Given the description of an element on the screen output the (x, y) to click on. 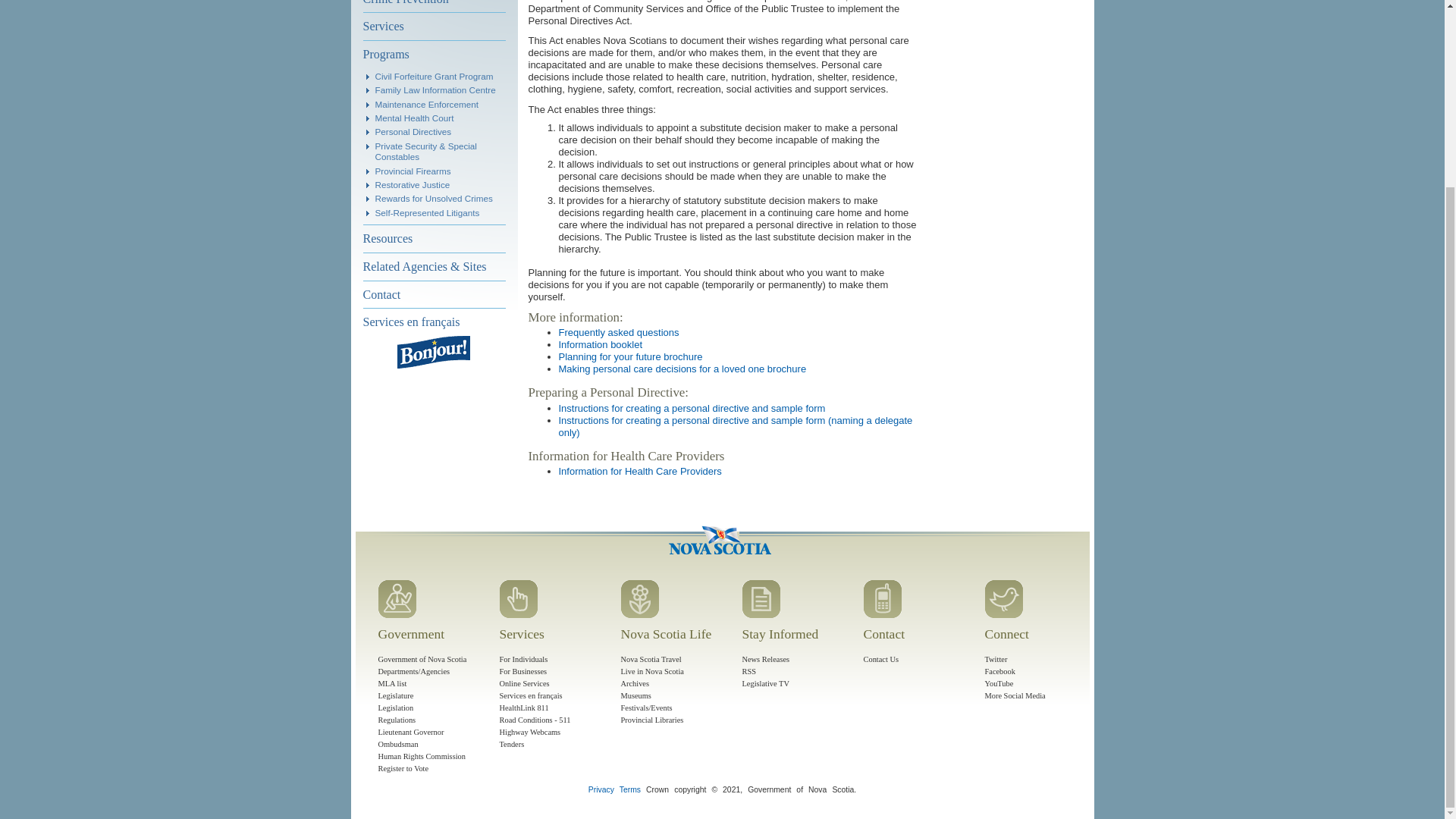
Crime Prevention (433, 6)
Services (433, 26)
